Given the description of an element on the screen output the (x, y) to click on. 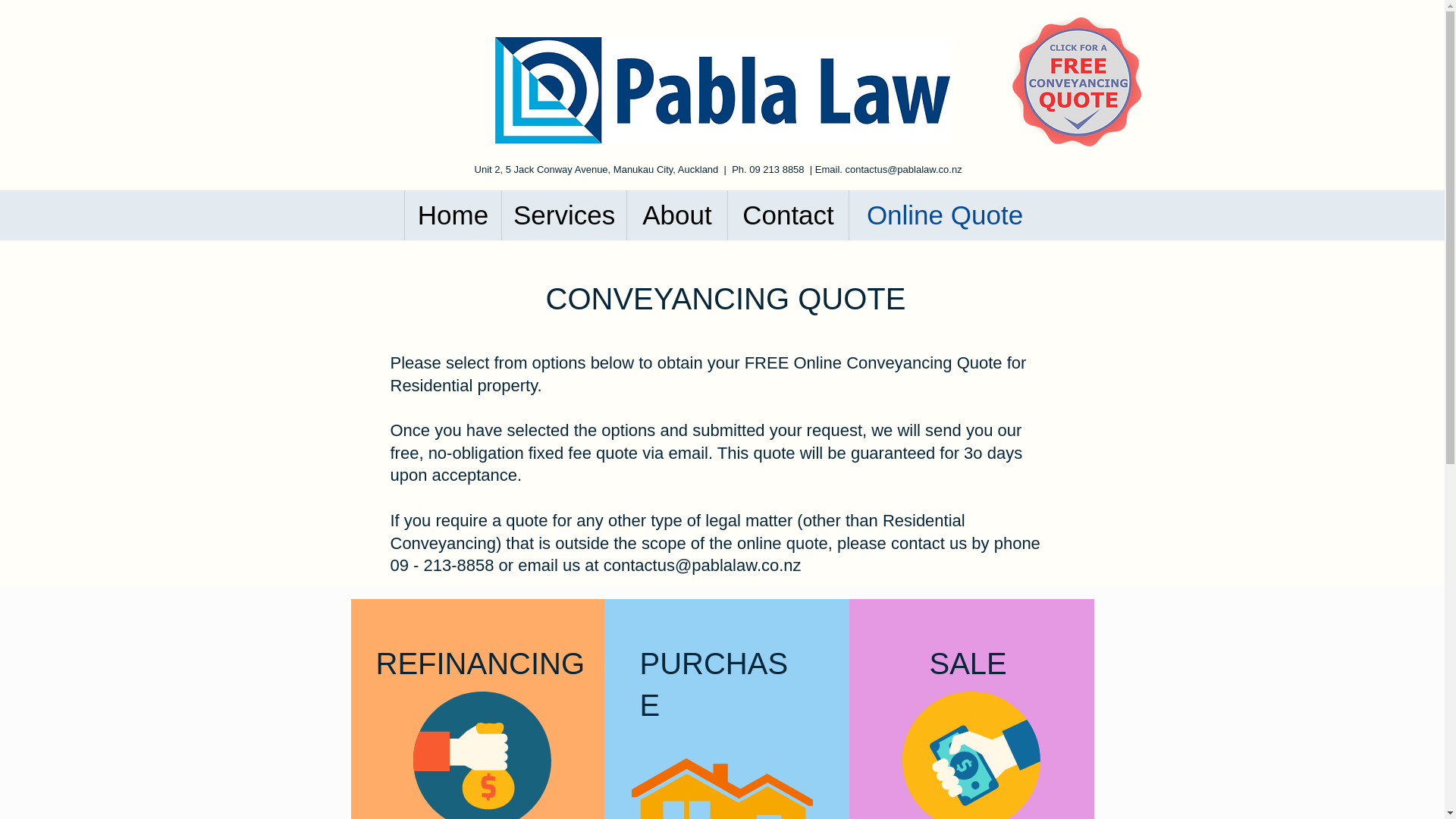
PURCHASE (714, 684)
PLQuote Badge.png (1075, 81)
Online Quote (944, 215)
Pabla Law with Logo on Left - Horizontal for Website.png (722, 90)
REFINANCING (480, 663)
Home (452, 215)
Services (563, 215)
Contact (787, 215)
SALE (968, 663)
